Given the description of an element on the screen output the (x, y) to click on. 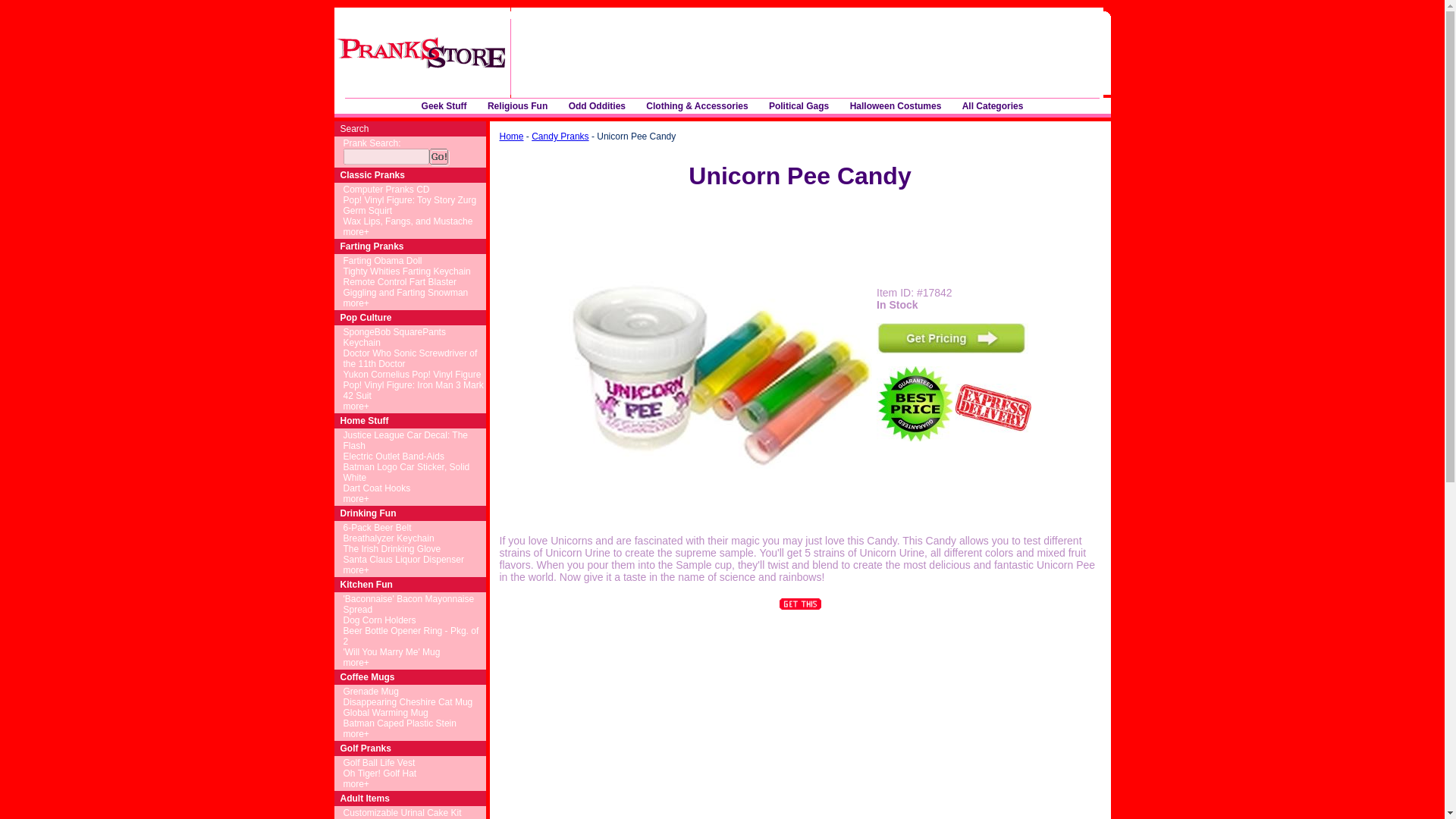
Wax Lips, Fangs, and Mustache (406, 221)
Yukon Cornelius Pop! Vinyl Figure (411, 374)
The Irish Drinking Glove (391, 548)
Advertisement (694, 52)
Religious Fun (517, 106)
Germ Squirt (366, 210)
Giggling and Farting Snowman (404, 292)
'Baconnaise' Bacon Mayonnaise Spread (408, 604)
Farting Obama Doll (382, 260)
Tighty Whities Farting Keychain (406, 271)
More Classic Pranks (355, 231)
Halloween Costumes (895, 106)
Pop Culture (365, 317)
Farting Pranks (371, 245)
Pop! Vinyl Figure: Iron Man 3 Mark 42 Suit (412, 390)
